Given the description of an element on the screen output the (x, y) to click on. 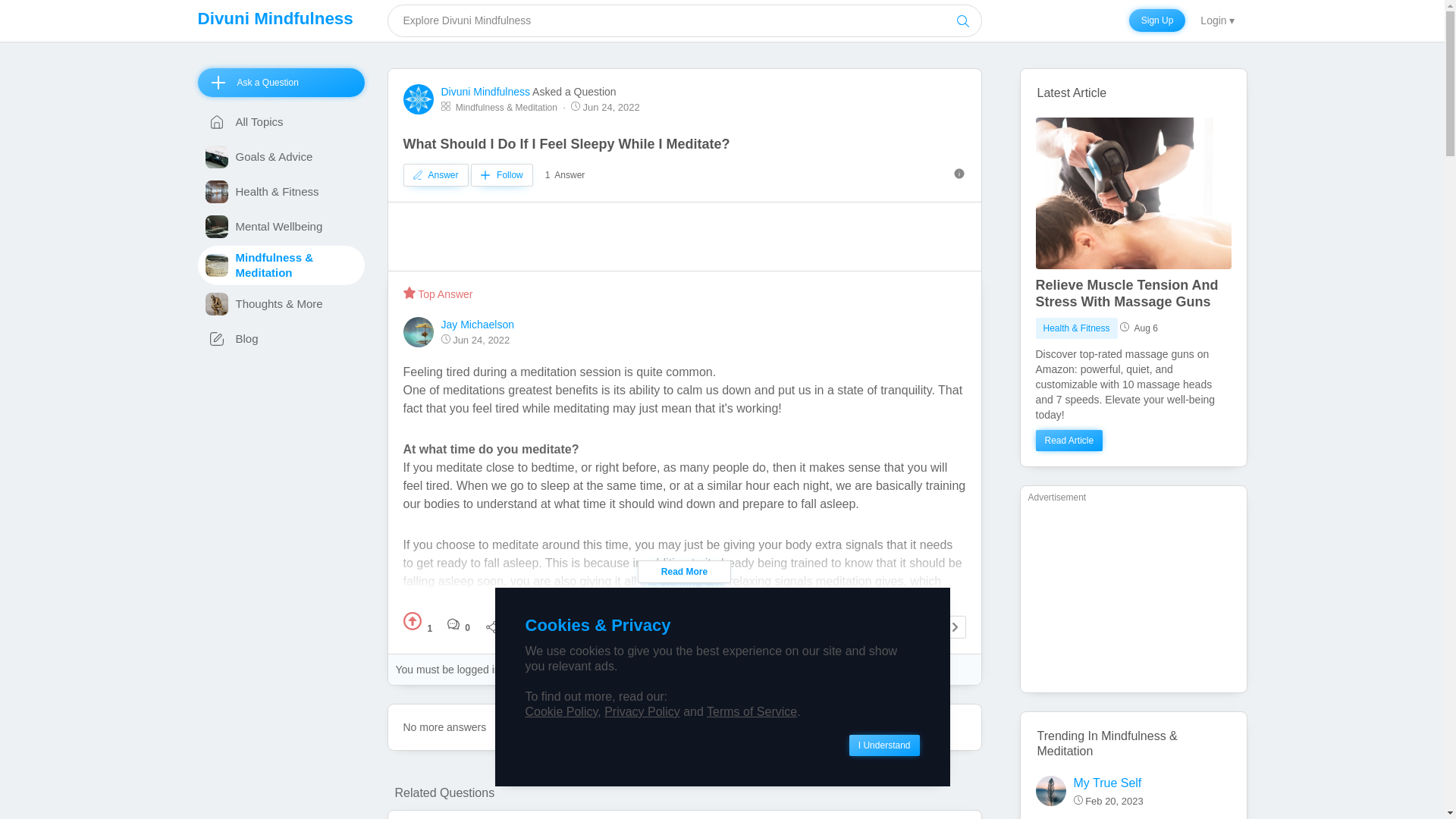
All Topics (280, 121)
Sign Up (1157, 20)
1  Answer (564, 174)
Mental Wellbeing (280, 226)
Blog (280, 338)
View article (1133, 293)
Home Page (274, 18)
Login (1217, 20)
Sign Up (1157, 20)
View Post (1133, 384)
Advertisement (1133, 596)
Divuni Mindfulness (274, 18)
View Post (1133, 193)
View Post (1069, 440)
Ask a Question (280, 82)
